Given the description of an element on the screen output the (x, y) to click on. 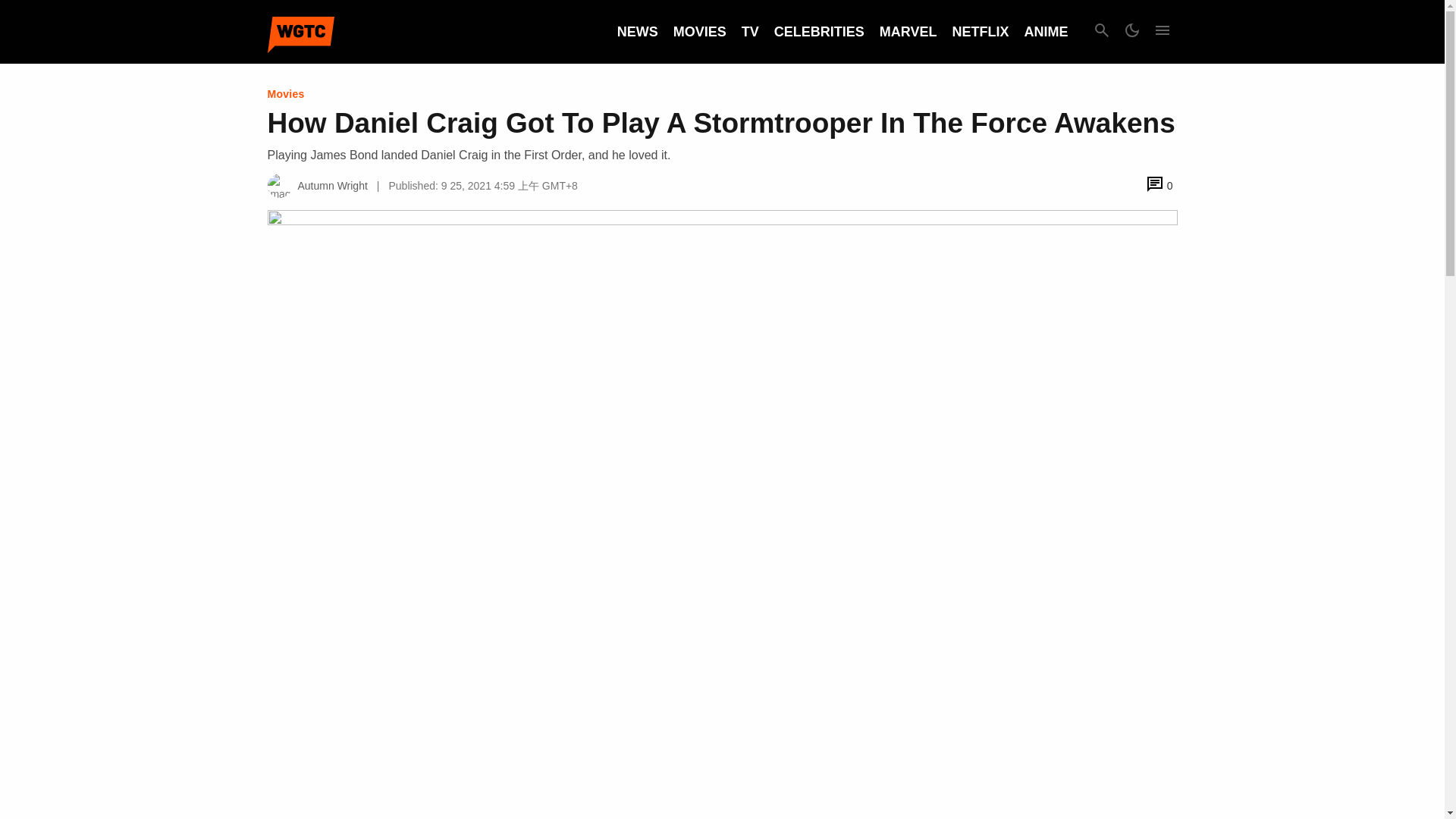
NEWS (637, 31)
CELEBRITIES (819, 31)
MOVIES (699, 31)
Search (1101, 31)
NETFLIX (980, 31)
Dark Mode (1131, 31)
Expand Menu (1161, 31)
TV (749, 31)
MARVEL (908, 31)
ANIME (1045, 31)
